Given the description of an element on the screen output the (x, y) to click on. 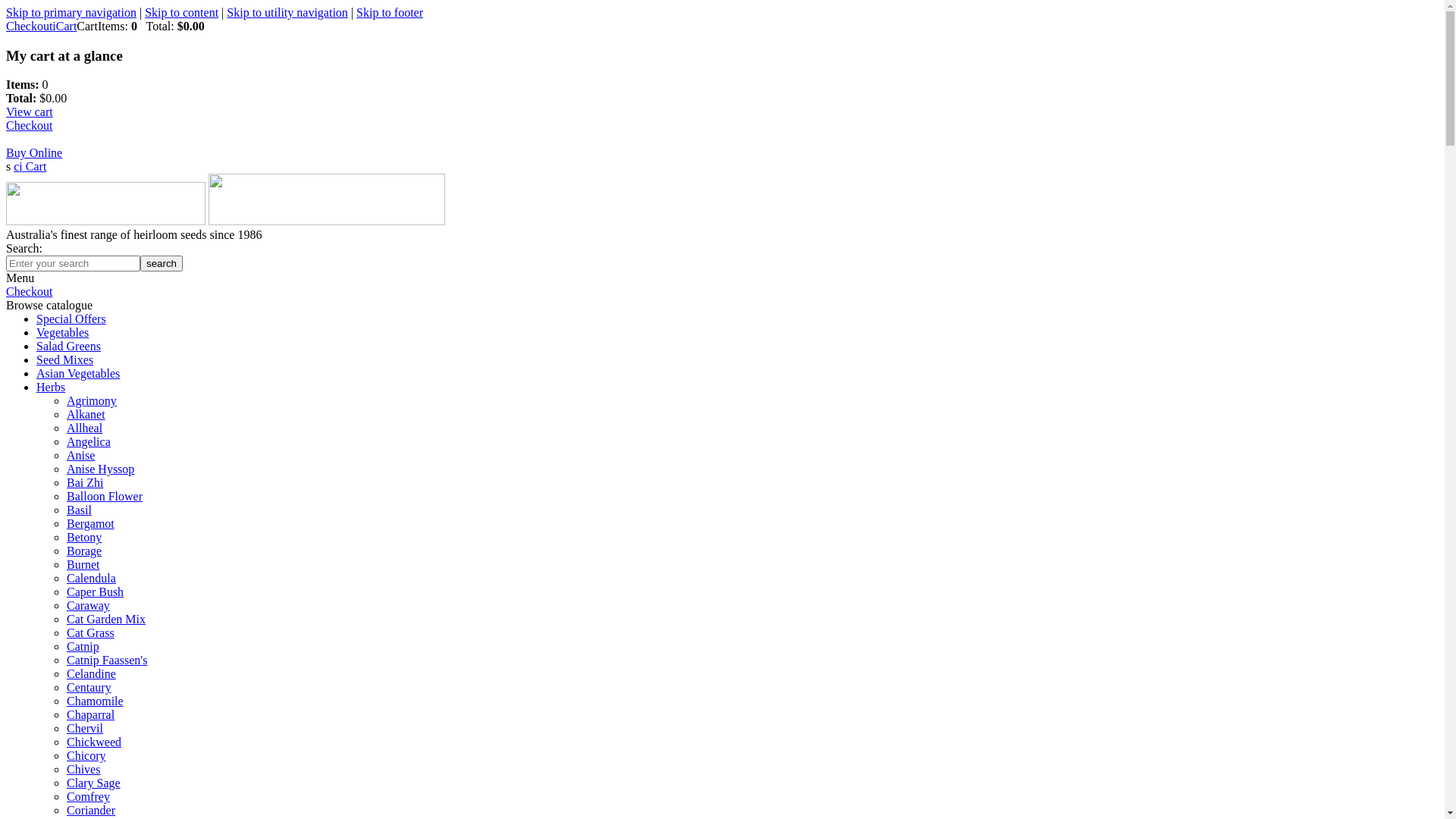
Checkout

Buy Online Element type: text (34, 139)
Checkout Element type: text (29, 25)
Skip to footer Element type: text (389, 12)
Special Offers Element type: text (71, 318)
Cat Grass Element type: text (90, 632)
Basil Element type: text (78, 509)
Herbs Element type: text (50, 386)
Borage Element type: text (83, 550)
View cart Element type: text (29, 111)
Chervil Element type: text (84, 727)
Seed Mixes Element type: text (64, 359)
Betony Element type: text (83, 536)
Burnet Element type: text (83, 564)
s Element type: text (8, 166)
Coriander Element type: text (90, 809)
Chickweed Element type: text (93, 741)
Celandine Element type: text (91, 673)
Clary Sage Element type: text (93, 782)
Skip to primary navigation Element type: text (71, 12)
Centaury Element type: text (88, 686)
Skip to utility navigation Element type: text (287, 12)
Catnip Element type: text (82, 646)
Bergamot Element type: text (90, 523)
iCart Element type: text (64, 25)
Caraway Element type: text (87, 605)
Vegetables Element type: text (62, 332)
Chives Element type: text (83, 768)
Catnip Faassen's Element type: text (106, 659)
Bai Zhi Element type: text (84, 482)
Cat Garden Mix Element type: text (105, 618)
Chaparral Element type: text (90, 714)
Anise Element type: text (80, 454)
Alkanet Element type: text (85, 413)
Allheal Element type: text (84, 427)
Asian Vegetables Element type: text (77, 373)
Calendula Element type: text (91, 577)
Balloon Flower Element type: text (104, 495)
Checkout Element type: text (29, 291)
Chamomile Element type: text (94, 700)
Caper Bush Element type: text (94, 591)
Salad Greens Element type: text (68, 345)
Comfrey Element type: text (87, 796)
Skip to content Element type: text (181, 12)
Agrimony Element type: text (91, 400)
Anise Hyssop Element type: text (100, 468)
i Cart Element type: text (32, 166)
Angelica Element type: text (88, 441)
c Element type: text (15, 166)
search Element type: text (161, 263)
Chicory Element type: text (86, 755)
